Given the description of an element on the screen output the (x, y) to click on. 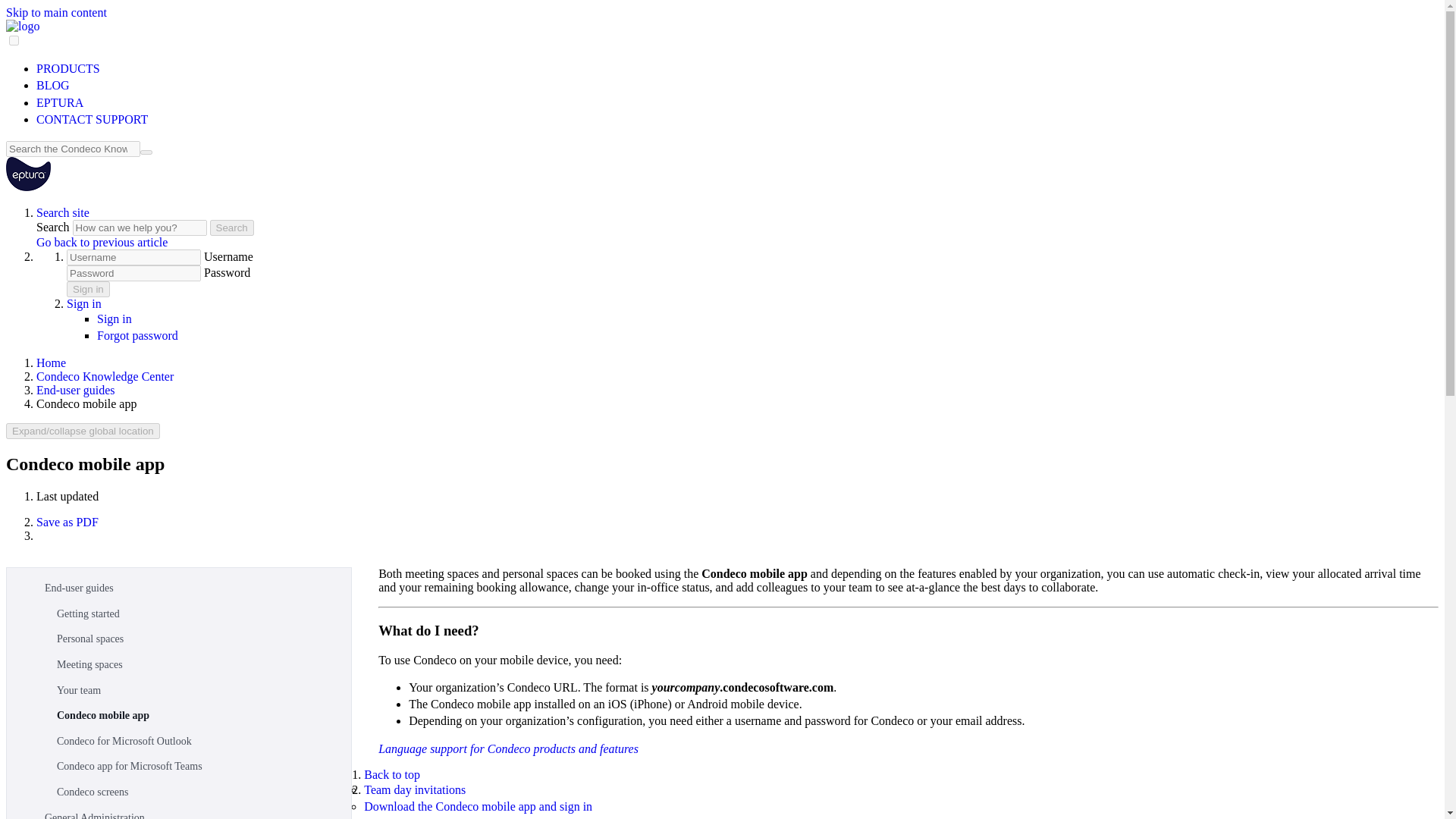
Sign in (114, 318)
Go back to previous article (101, 241)
Search site (62, 212)
Sign in (83, 303)
Sign in (114, 318)
End-user guides (194, 588)
Skip to main content (55, 11)
Condeco Knowledge Center (104, 376)
Sign in (83, 303)
Forgot password (137, 335)
Go back to previous article (101, 241)
Eptura Knowledge Center (27, 186)
on (13, 40)
PRODUCTS (68, 68)
End-user guides (75, 390)
